Given the description of an element on the screen output the (x, y) to click on. 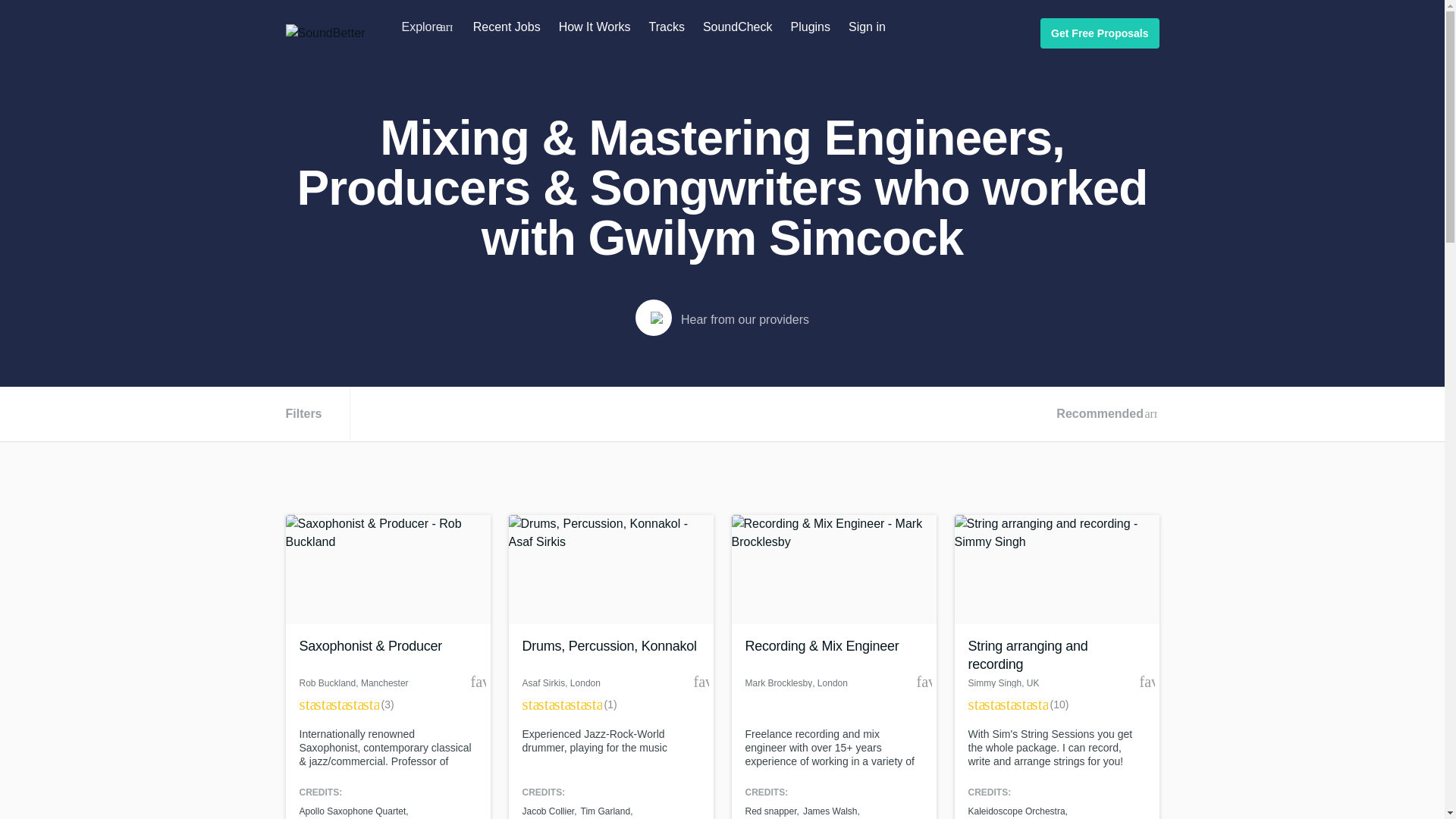
Add to favorites (1146, 681)
Add to favorites (477, 681)
Add to favorites (700, 681)
Add to favorites (923, 681)
SoundBetter (325, 33)
